Given the description of an element on the screen output the (x, y) to click on. 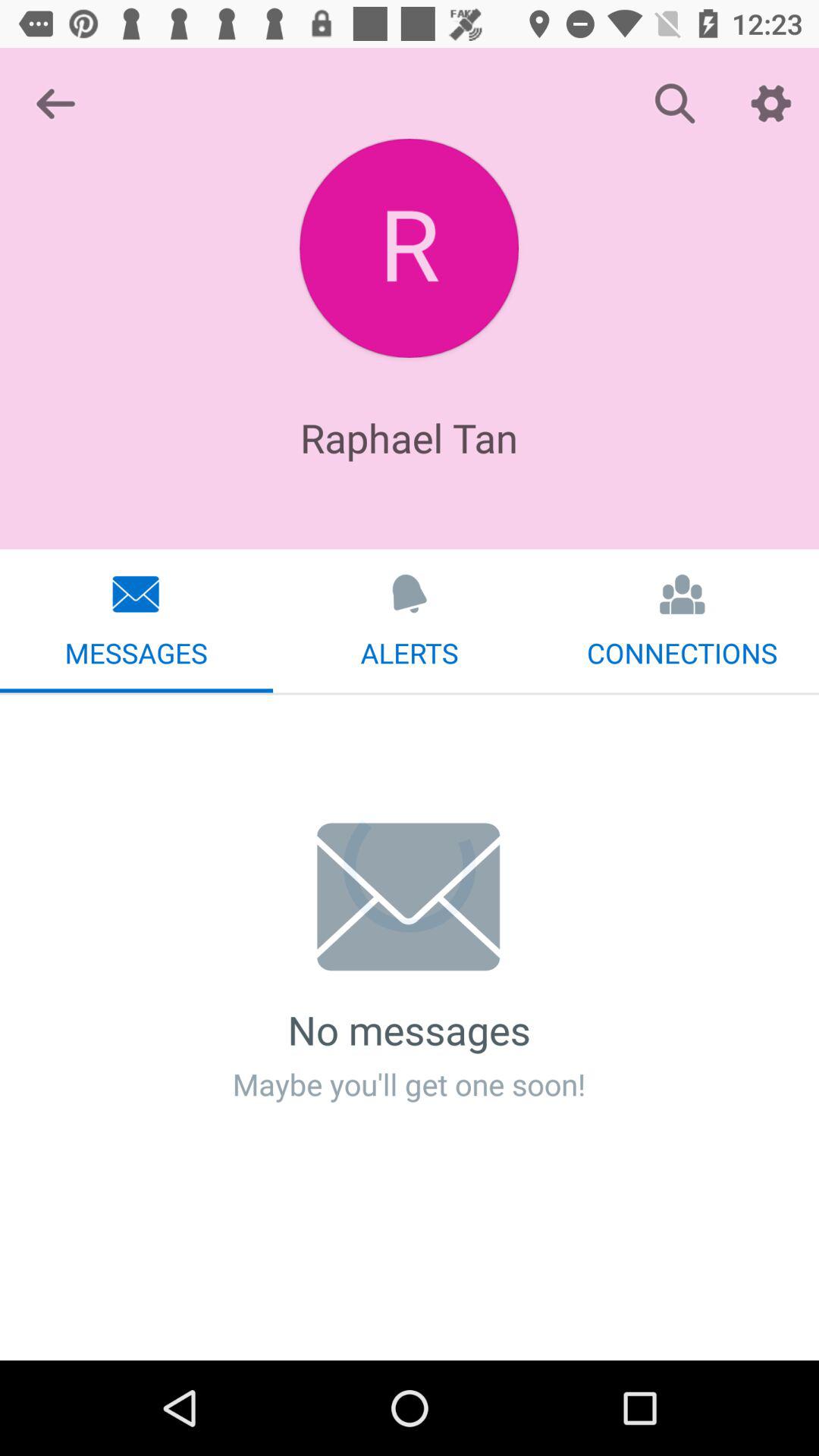
turn on icon above the connections (771, 103)
